Given the description of an element on the screen output the (x, y) to click on. 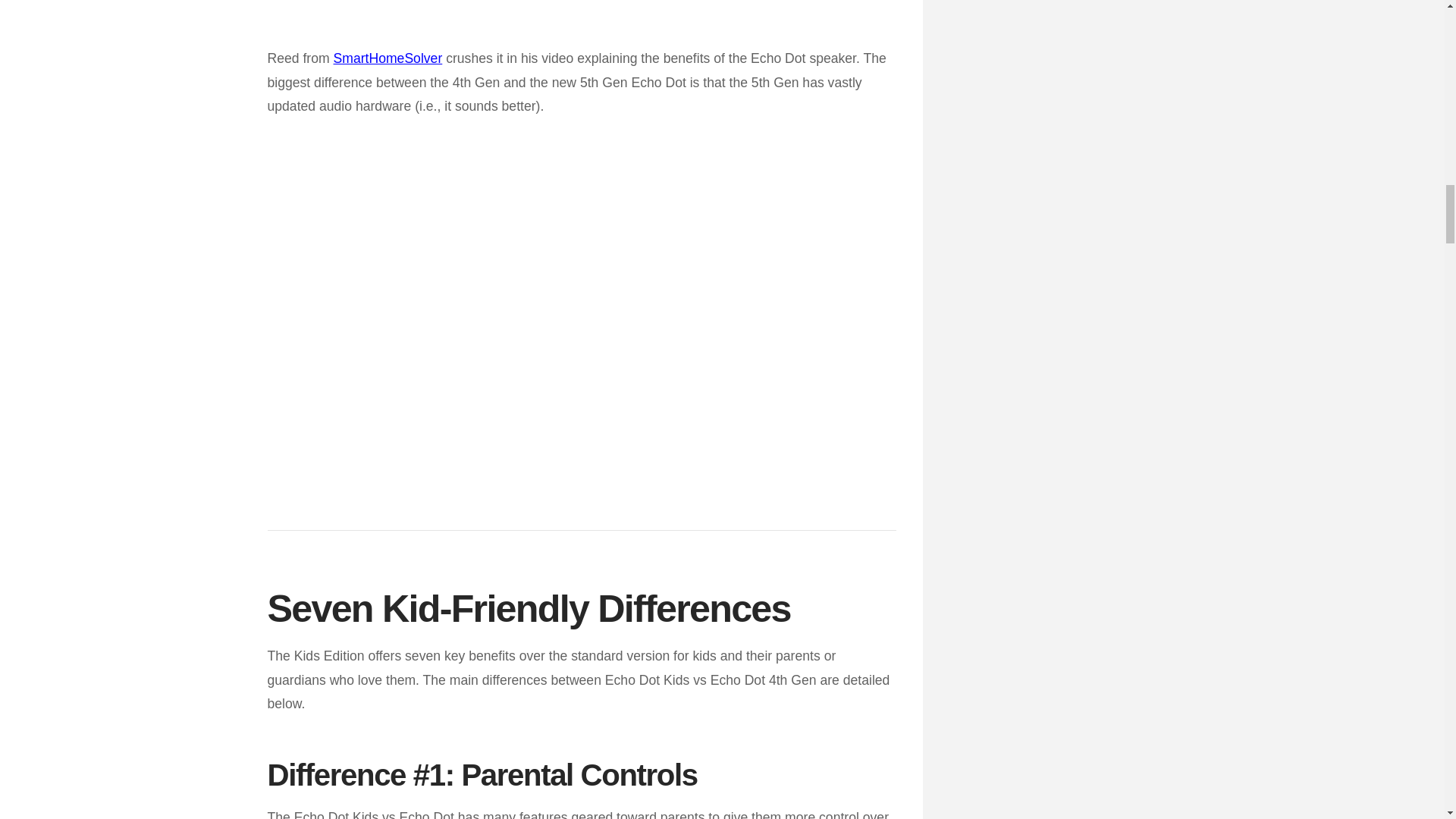
YouTube video player (580, 5)
